Given the description of an element on the screen output the (x, y) to click on. 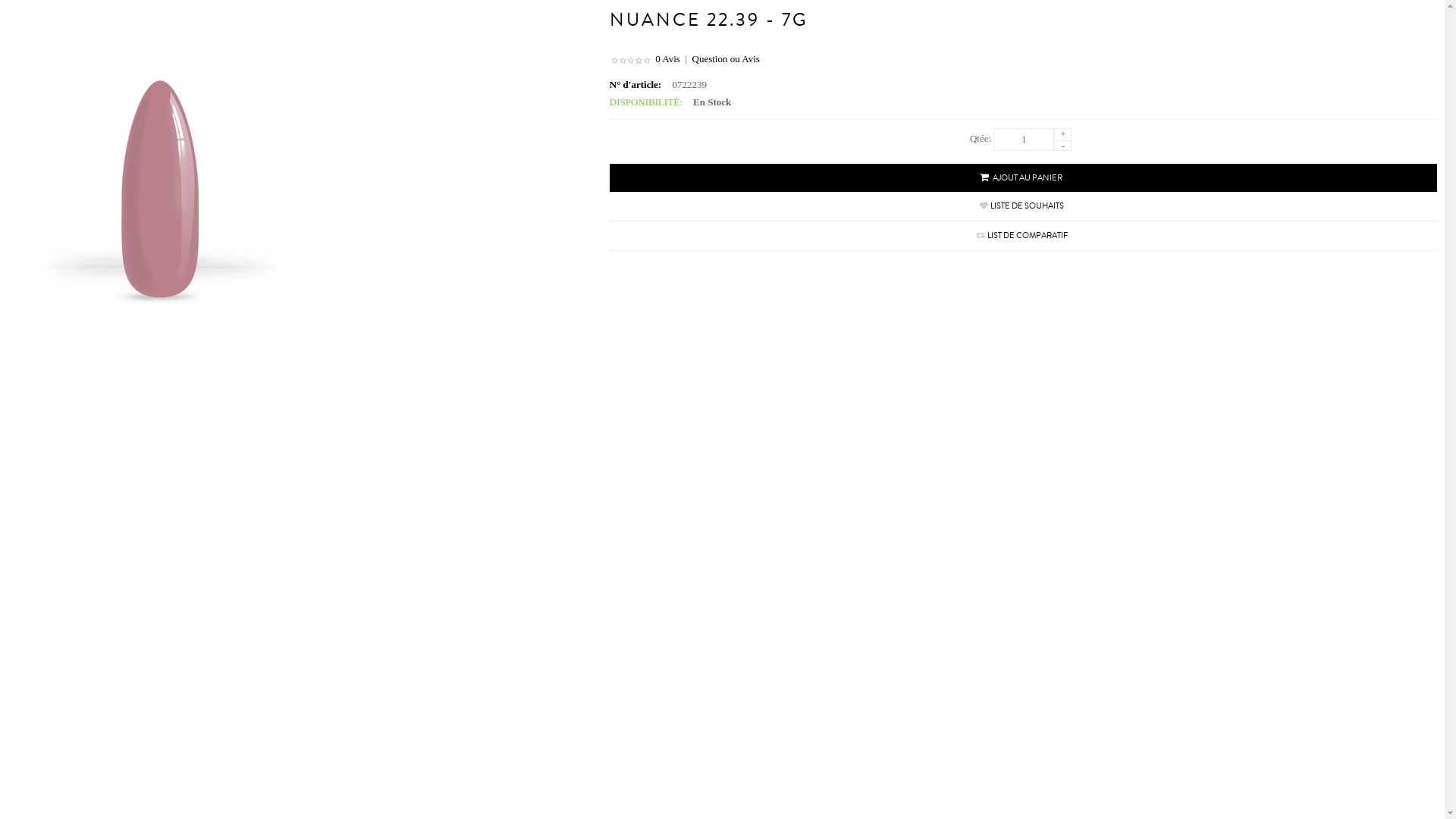
NUANCE 22.39 - 7G Element type: text (708, 19)
LISTE DE SOUHAITS Element type: text (1027, 205)
0 Avis Element type: text (667, 58)
LIST DE COMPARATIF Element type: text (1027, 235)
Nuance 22.39 - 7g Element type: hover (158, 177)
Question ou Avis Element type: text (725, 58)
